Given the description of an element on the screen output the (x, y) to click on. 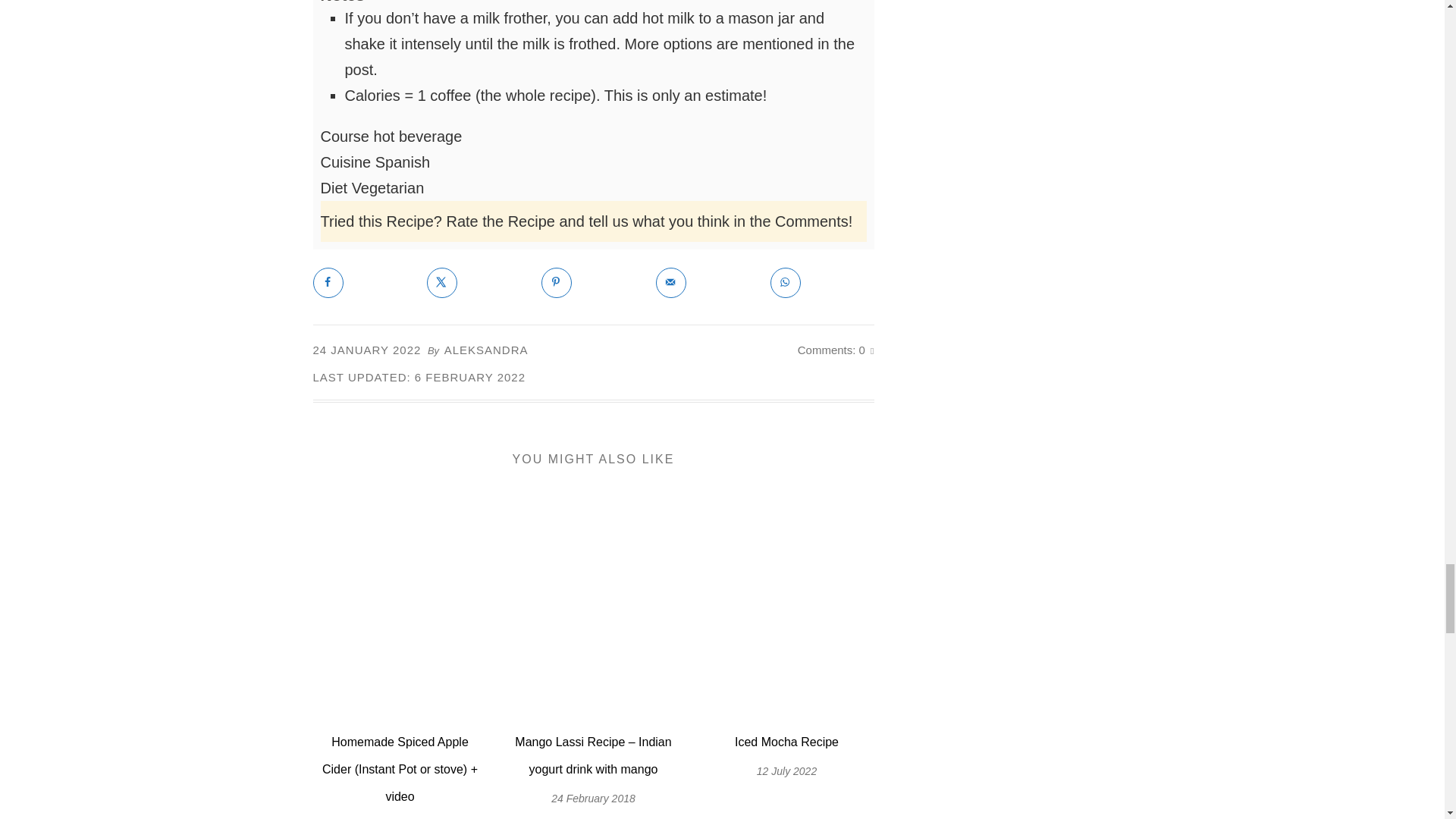
Save to Pinterest (556, 282)
Share on X (441, 282)
Share on Facebook (327, 282)
Share on WhatsApp (785, 282)
Send over email (670, 282)
